Given the description of an element on the screen output the (x, y) to click on. 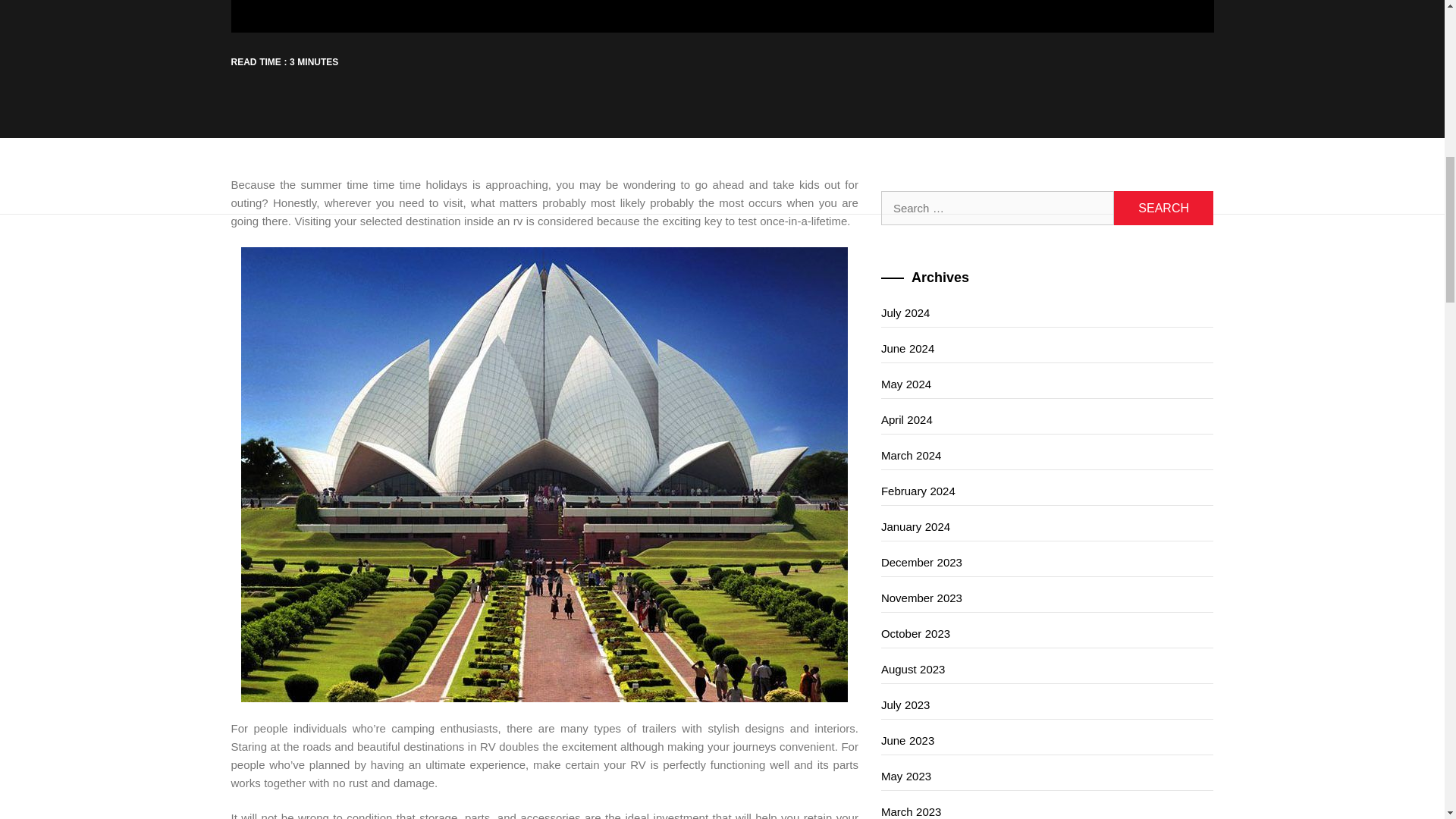
June 2024 (1047, 348)
February 2024 (1047, 491)
March 2024 (1047, 456)
Search (1163, 207)
Search (1163, 207)
July 2024 (1047, 313)
May 2024 (1047, 384)
April 2024 (1047, 420)
Search (1163, 207)
